Given the description of an element on the screen output the (x, y) to click on. 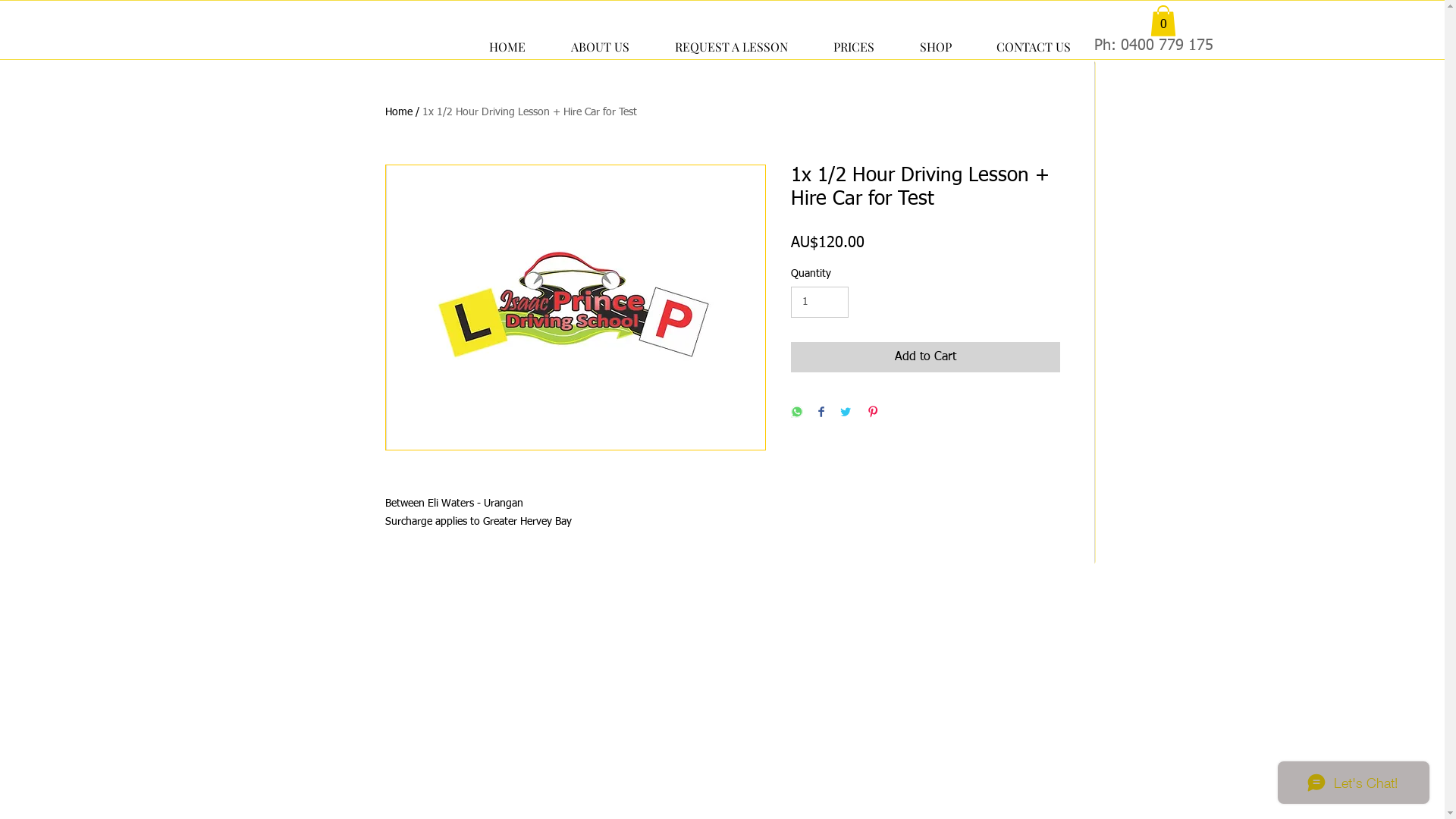
SHOP Element type: text (934, 39)
Add to Cart Element type: text (924, 357)
HOME Element type: text (506, 39)
REQUEST A LESSON Element type: text (731, 39)
ABOUT US Element type: text (599, 39)
Home Element type: text (398, 111)
CONTACT US Element type: text (1032, 39)
1x 1/2 Hour Driving Lesson + Hire Car for Test Element type: text (528, 111)
0 Element type: text (1162, 20)
PRICES Element type: text (852, 39)
